Given the description of an element on the screen output the (x, y) to click on. 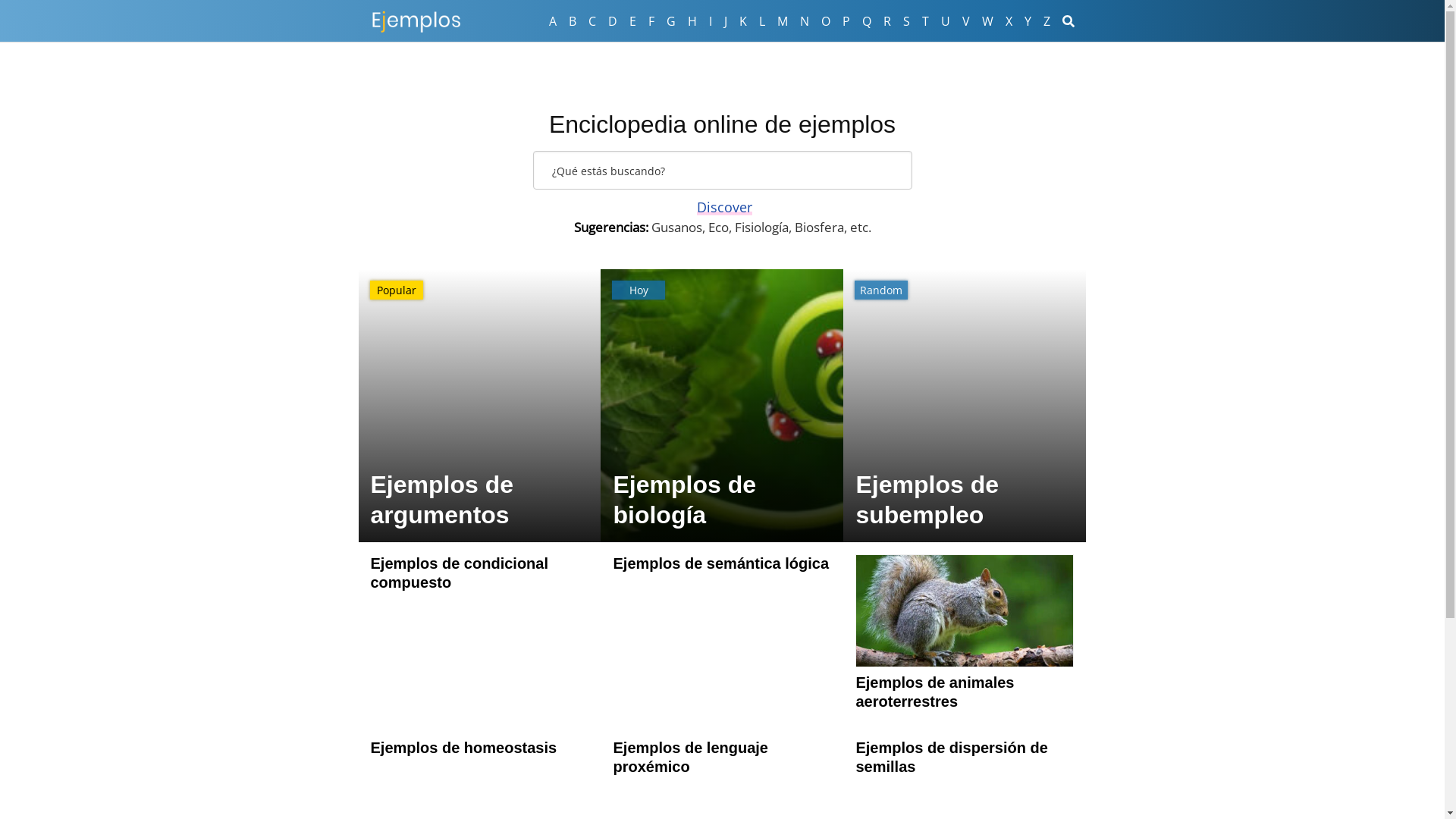
X Element type: text (1008, 20)
U Element type: text (944, 20)
T Element type: text (925, 20)
Ejemplos de animales aeroterrestres Element type: text (964, 656)
Ejemplos de condicional compuesto Element type: text (479, 573)
E Element type: text (632, 20)
G Element type: text (669, 20)
B Element type: text (572, 20)
K Element type: text (742, 20)
Y Element type: text (1026, 20)
L Element type: text (761, 20)
N Element type: text (803, 20)
H Element type: text (691, 20)
O Element type: text (824, 20)
F Element type: text (650, 20)
P Element type: text (845, 20)
R Element type: text (886, 20)
M Element type: text (781, 20)
C Element type: text (592, 20)
Q Element type: text (865, 20)
S Element type: text (905, 20)
D Element type: text (612, 20)
A Element type: text (552, 20)
V Element type: text (965, 20)
W Element type: text (986, 20)
Discover Element type: text (723, 206)
J Element type: text (724, 20)
Ejemplos de homeostasis Element type: text (479, 747)
Z Element type: text (1046, 20)
I Element type: text (709, 20)
